Given the description of an element on the screen output the (x, y) to click on. 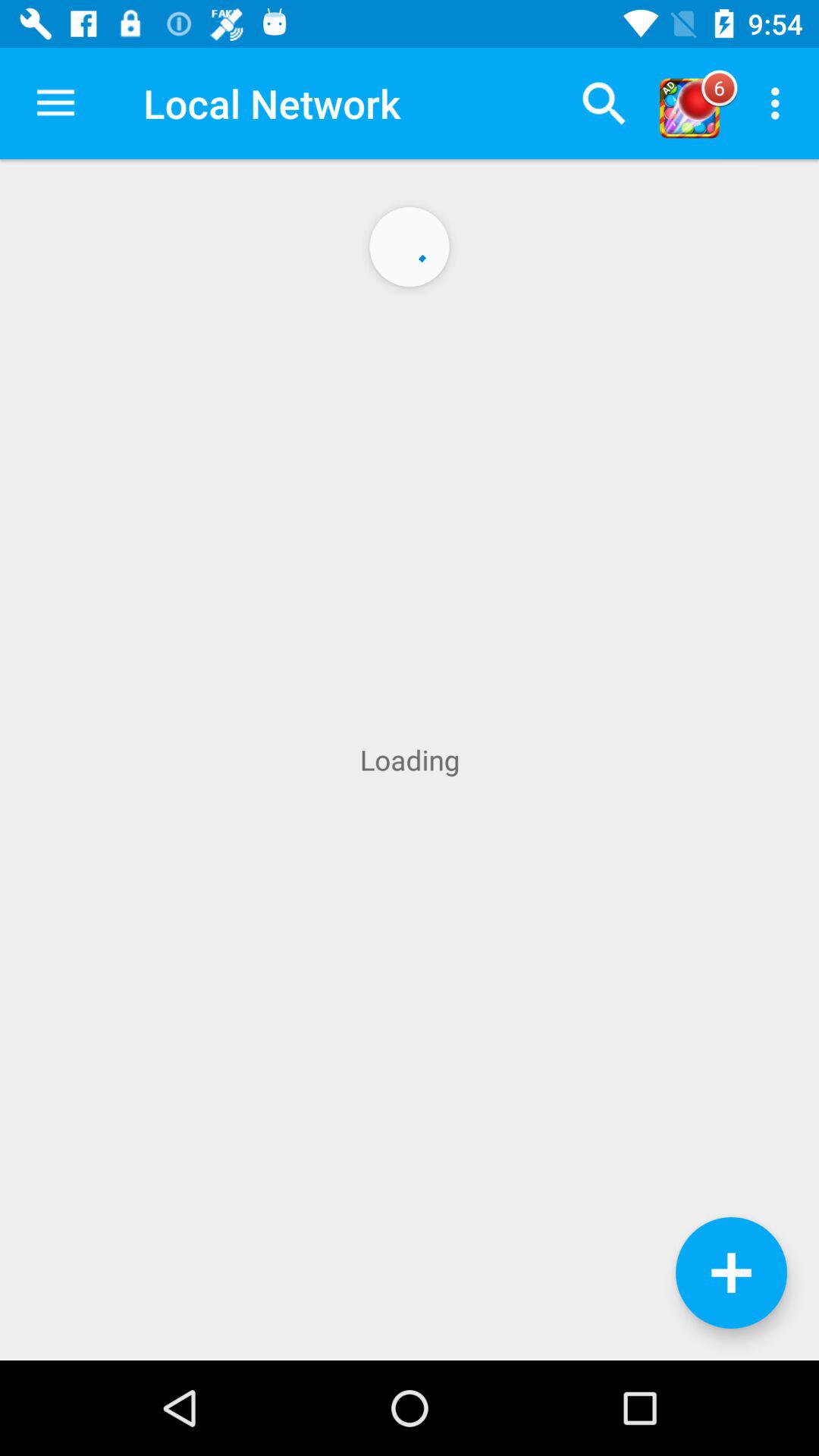
press the app to the left of the local network (55, 103)
